Given the description of an element on the screen output the (x, y) to click on. 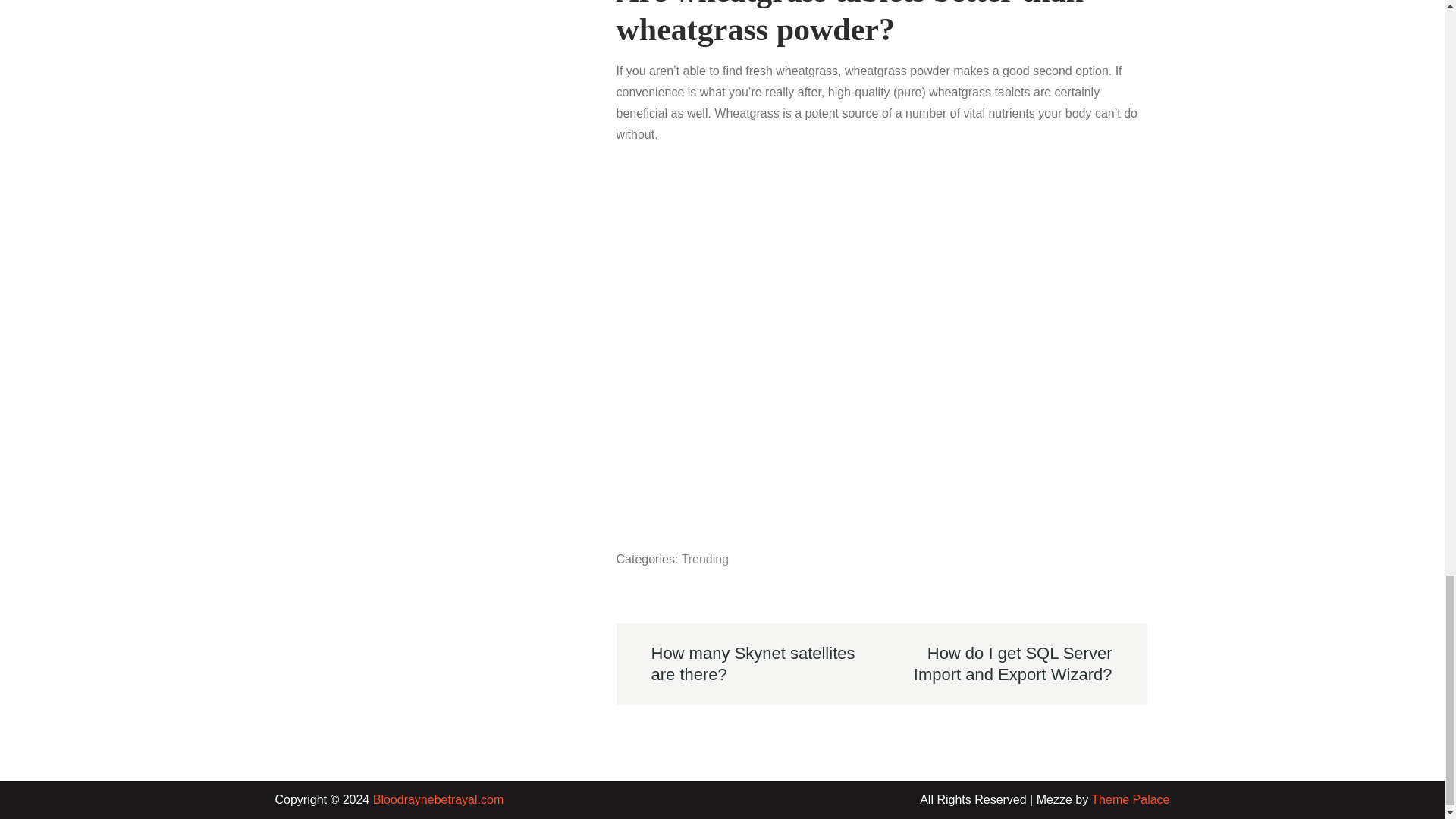
Trending (705, 558)
